Given the description of an element on the screen output the (x, y) to click on. 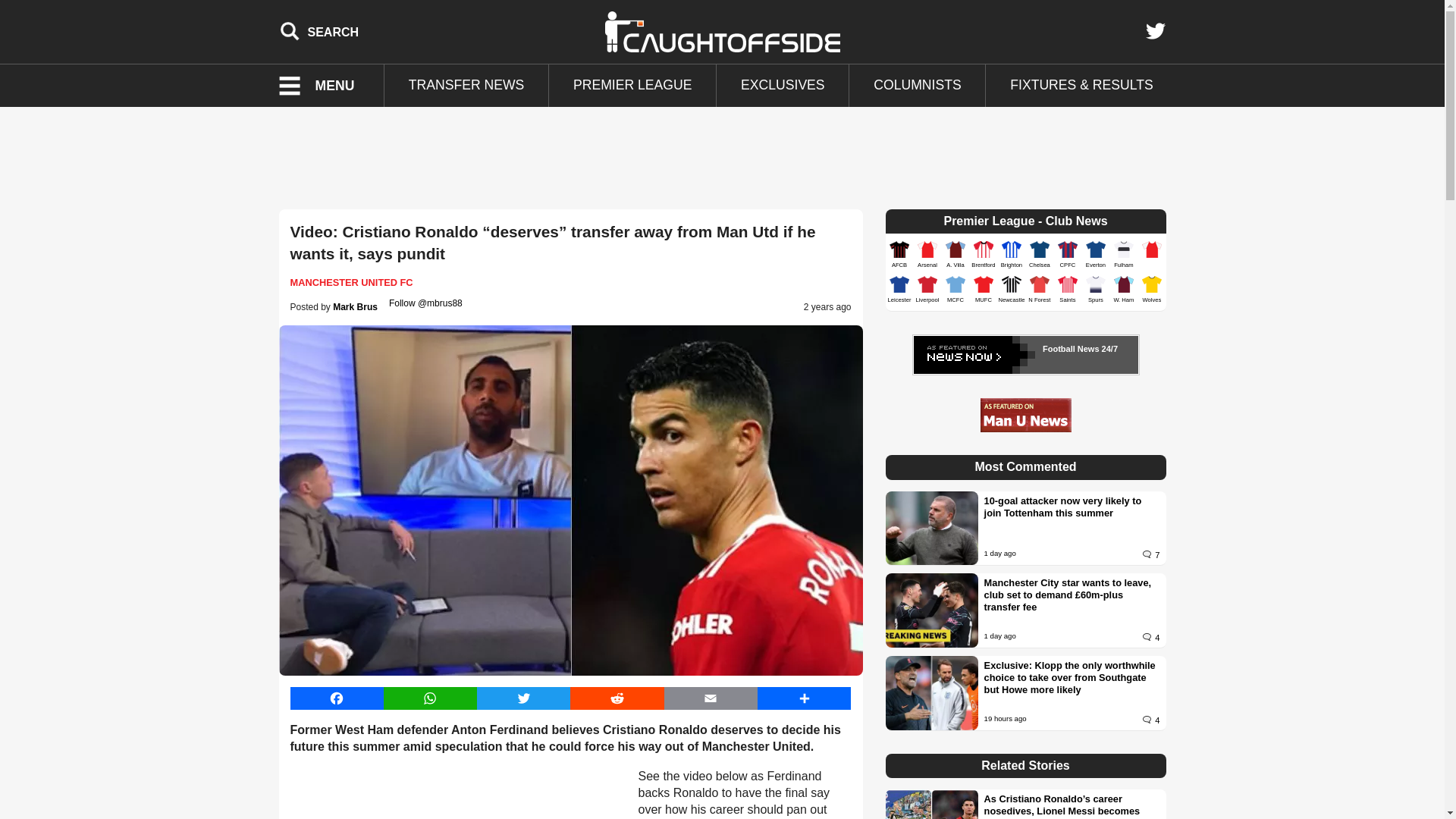
Search (319, 30)
EXCLUSIVES (782, 85)
TRANSFER NEWS (466, 85)
Twitter (1155, 30)
PREMIER LEAGUE (632, 85)
Menu (325, 85)
